Given the description of an element on the screen output the (x, y) to click on. 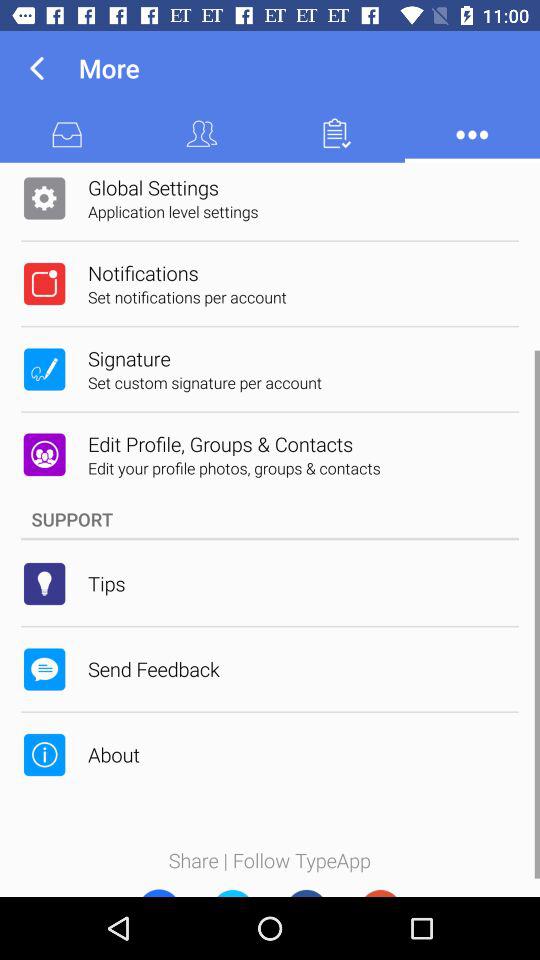
tap icon below the share | follow typeapp (158, 888)
